Given the description of an element on the screen output the (x, y) to click on. 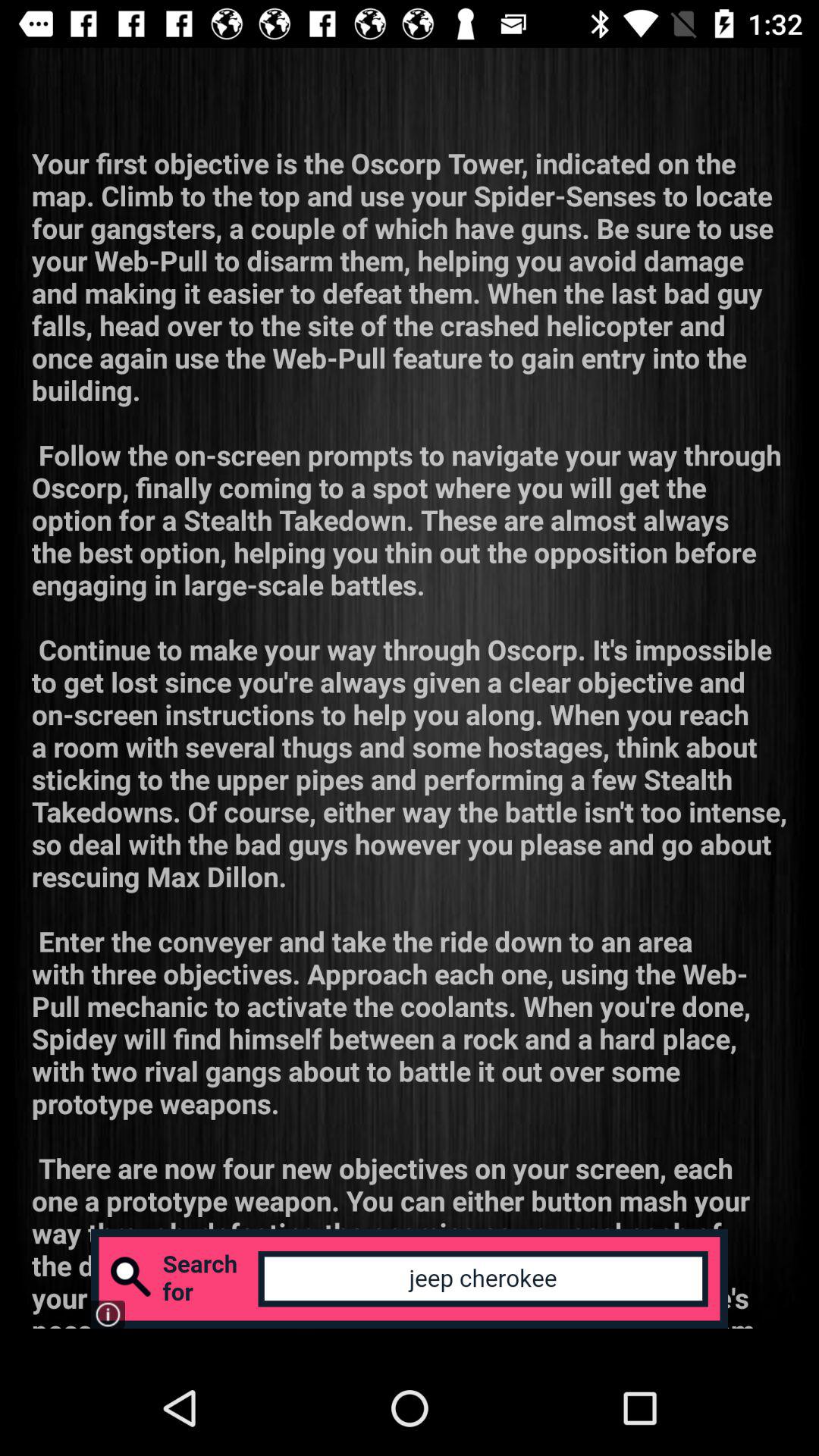
search for information (409, 1278)
